Given the description of an element on the screen output the (x, y) to click on. 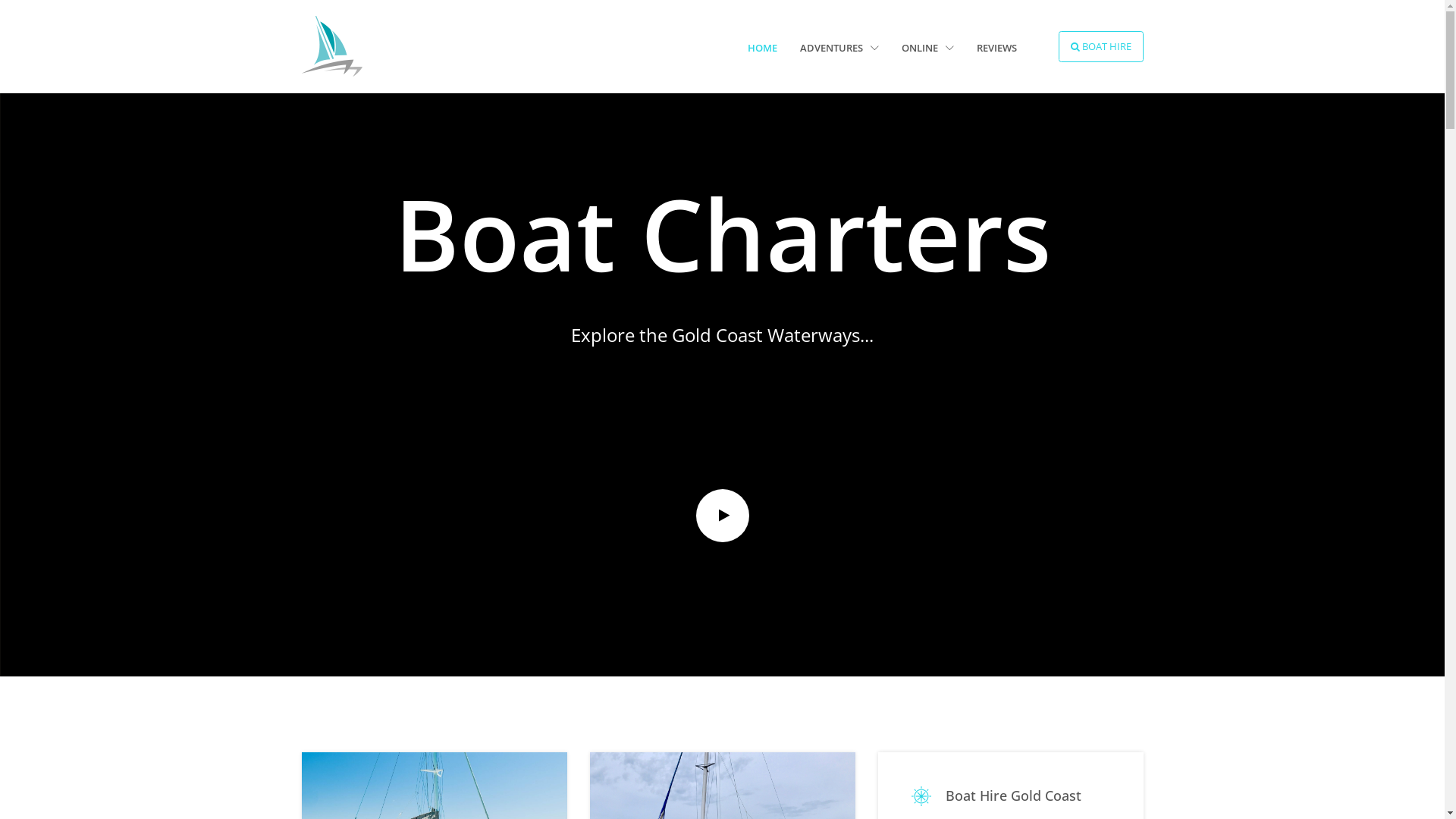
ONLINE Element type: text (927, 47)
BOAT HIRE Element type: text (1100, 46)
HOME Element type: text (762, 47)
REVIEWS Element type: text (996, 47)
ADVENTURES Element type: text (839, 47)
